Given the description of an element on the screen output the (x, y) to click on. 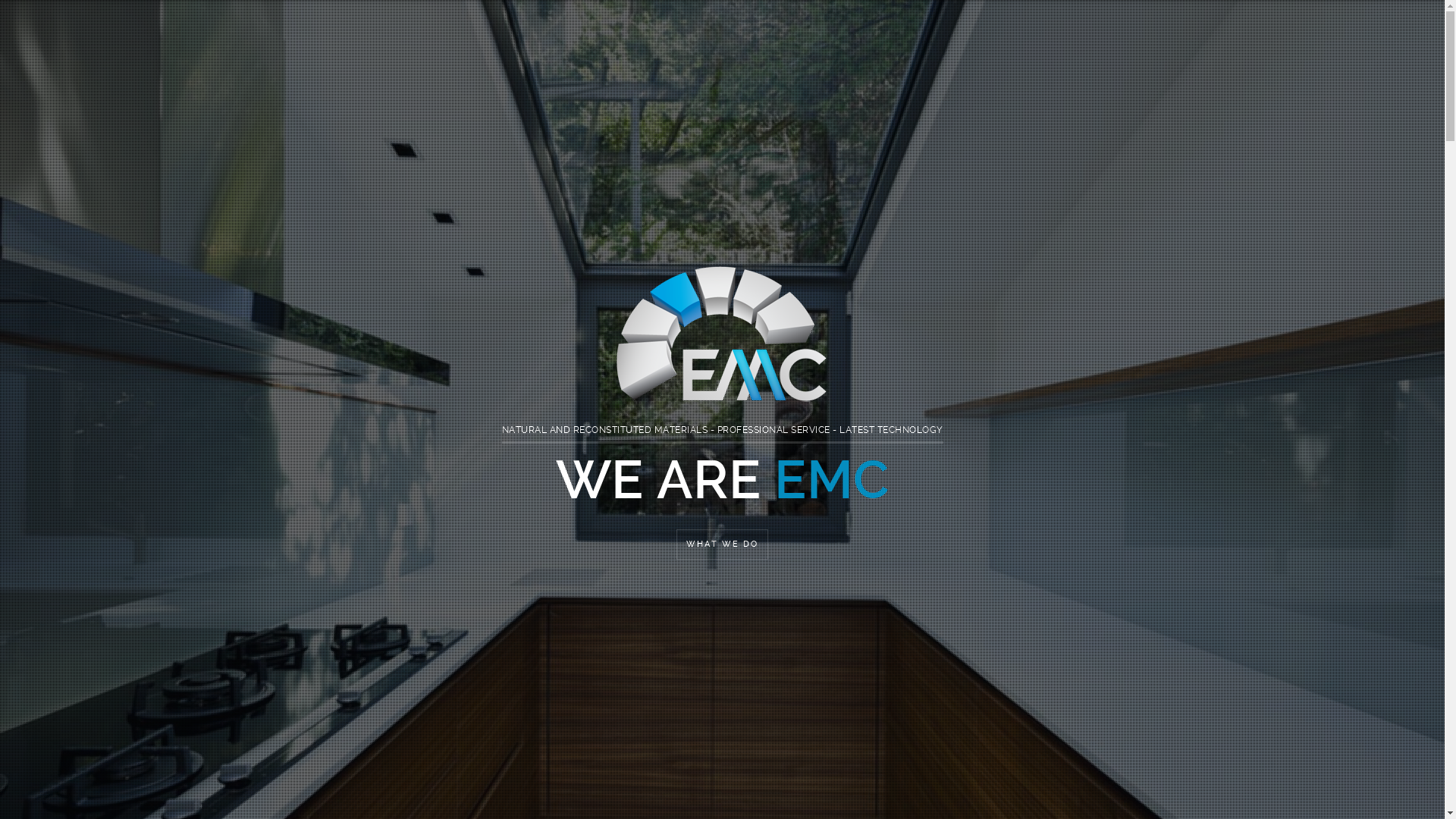
WHAT WE DO Element type: text (722, 544)
